Given the description of an element on the screen output the (x, y) to click on. 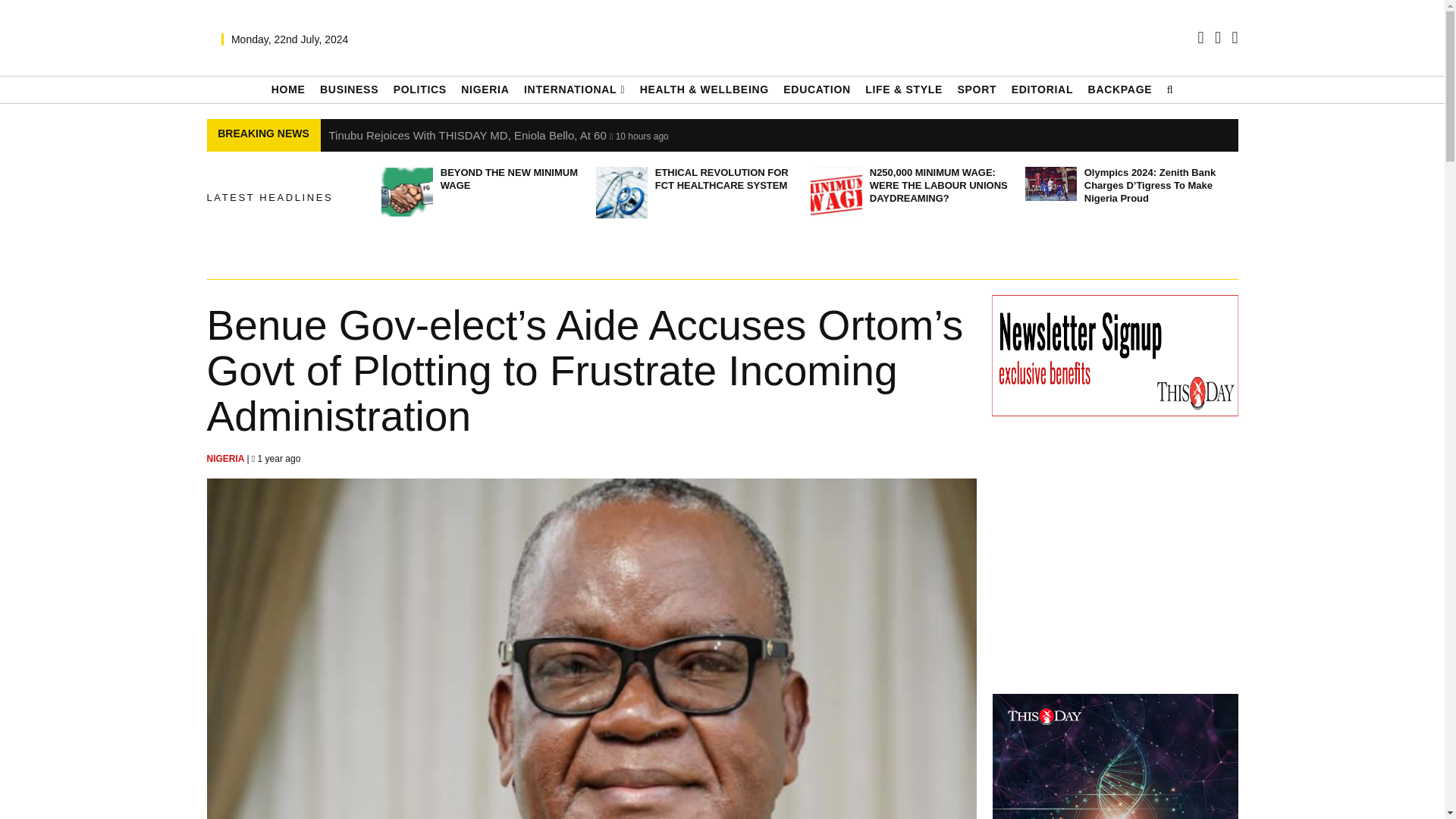
ETHICAL REVOLUTION FOR FCT HEALTHCARE SYSTEM (621, 192)
SPORT (975, 89)
BUSINESS (349, 89)
EDITORIAL (1042, 89)
N250,000 MINIMUM WAGE: WERE THE LABOUR UNIONS DAYDREAMING? (835, 192)
HOME (287, 89)
NIGERIA (484, 89)
EDUCATION (816, 89)
BEYOND THE NEW MINIMUM WAGE (406, 192)
POLITICS (419, 89)
INTERNATIONAL (574, 89)
